Given the description of an element on the screen output the (x, y) to click on. 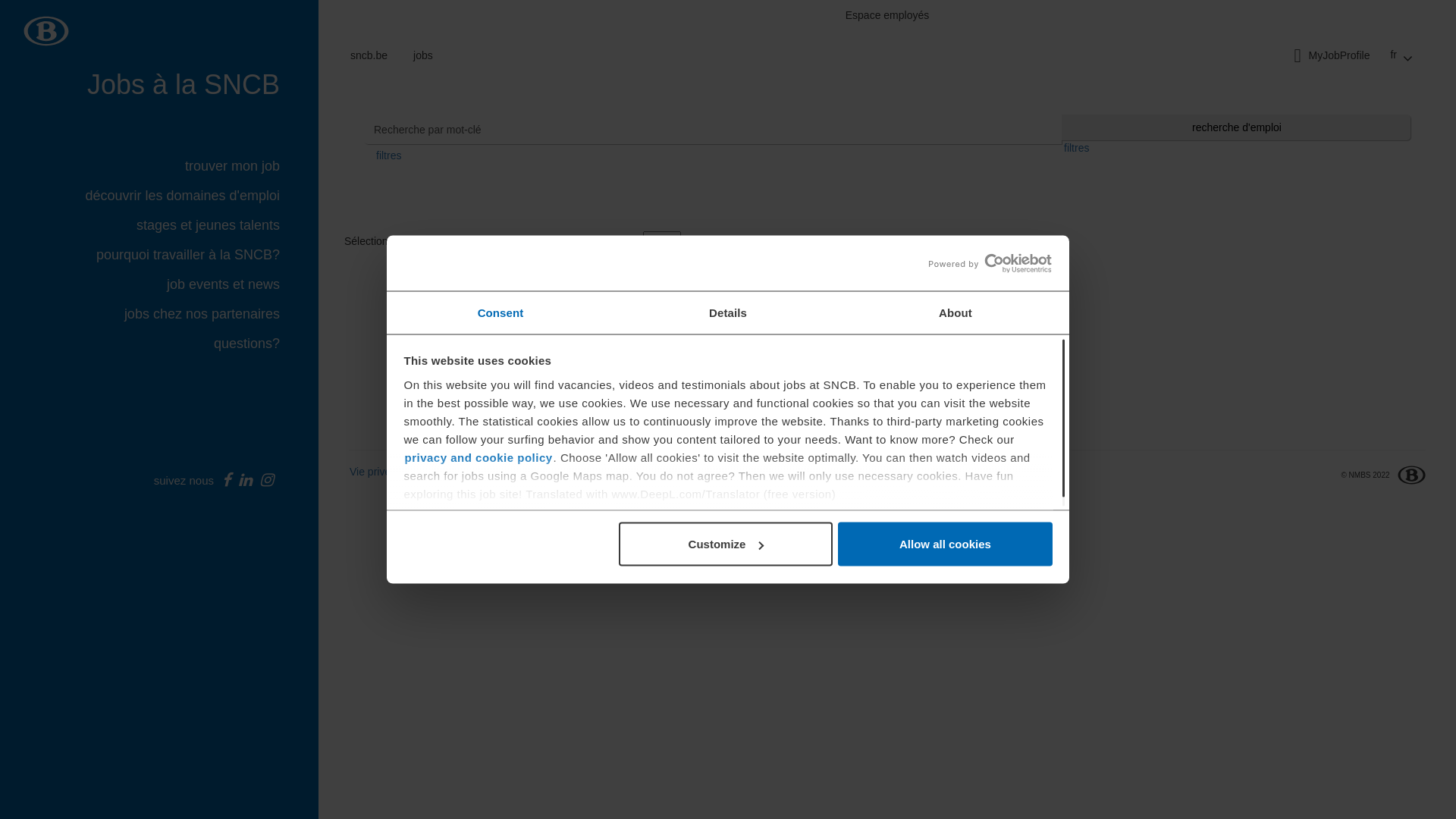
Allow all cookies Element type: text (944, 544)
stages et jeunes talents Element type: text (214, 225)
privacy and cookie policy Element type: text (477, 456)
Customize Element type: text (725, 544)
insta Element type: hover (266, 481)
MyJobProfile Element type: text (1327, 55)
trouver mon job Element type: text (239, 166)
questions? Element type: text (253, 343)
facebook Element type: hover (222, 481)
About Element type: text (955, 312)
Consent Element type: text (500, 312)
fr Element type: text (1400, 56)
jobs chez nos partenaires Element type: text (208, 314)
filtres Element type: text (1076, 147)
jobs Element type: text (423, 55)
sncb.be Element type: text (374, 55)
linkedin Element type: hover (245, 481)
filtres Element type: text (388, 155)
recherche d'emploi Element type: text (1235, 127)
job events et news Element type: text (229, 284)
Details Element type: text (727, 312)
